Given the description of an element on the screen output the (x, y) to click on. 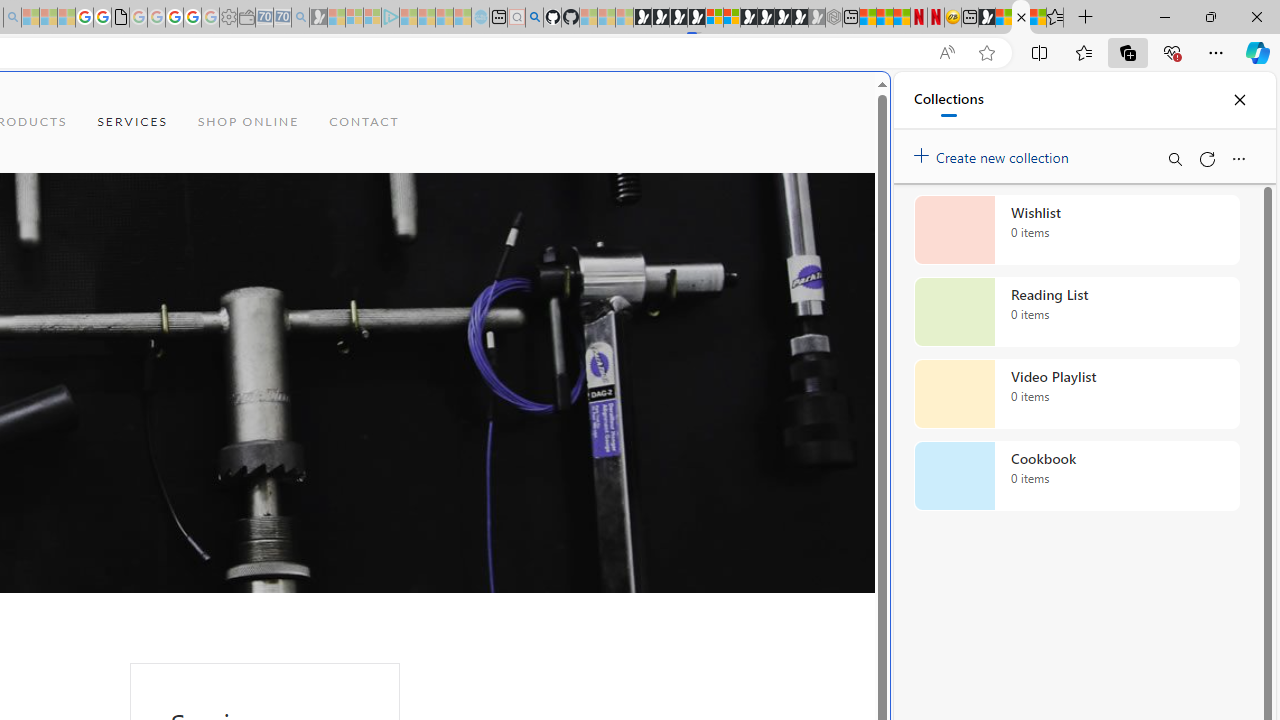
Overview (731, 17)
SHOP ONLINE (247, 122)
